Given the description of an element on the screen output the (x, y) to click on. 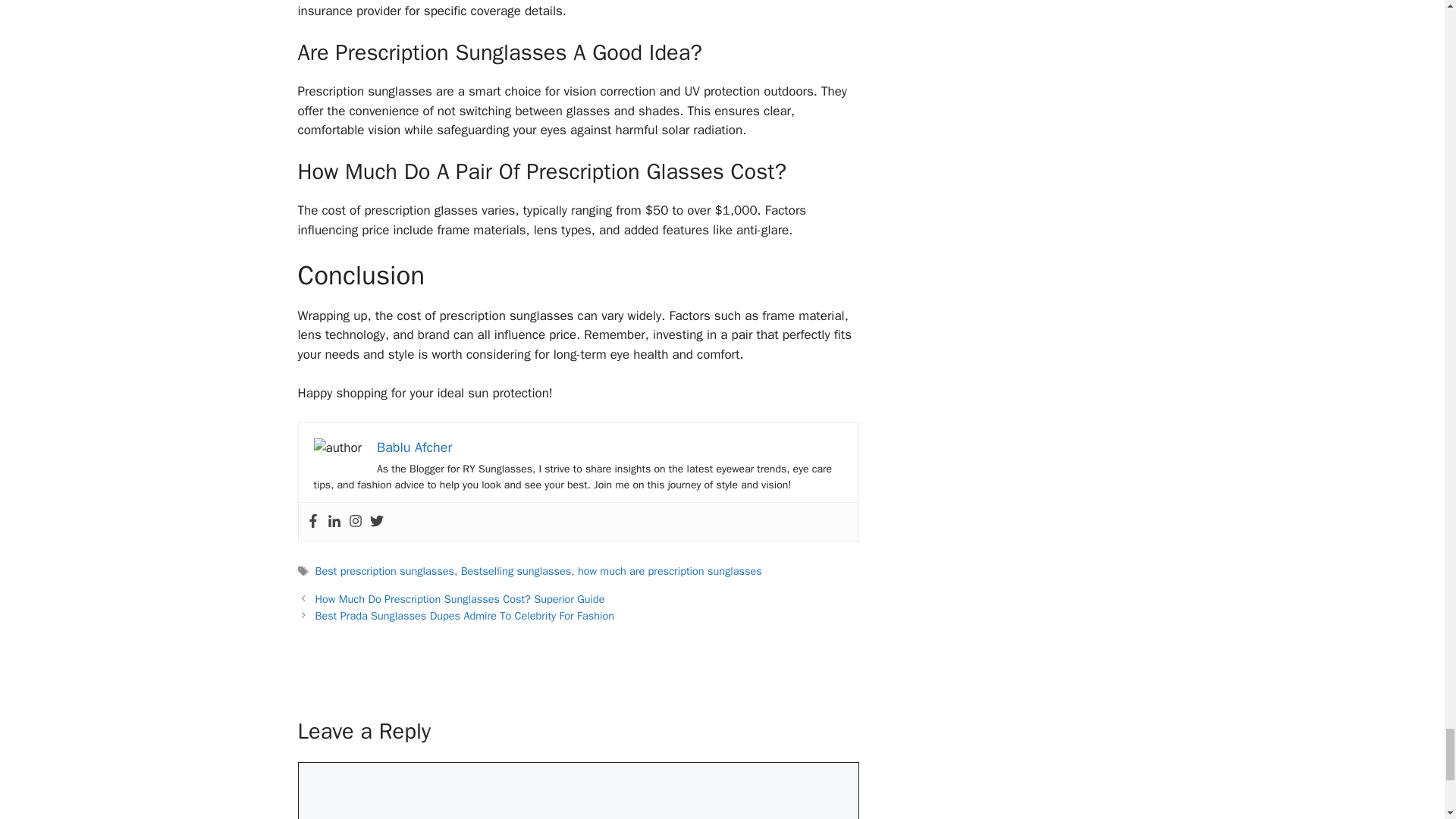
how much are prescription sunglasses (669, 571)
How Much Do Prescription Sunglasses Cost? Superior Guide (460, 599)
Best Prada Sunglasses Dupes Admire To Celebrity For Fashion (464, 615)
Best prescription sunglasses (384, 571)
Bablu Afcher (414, 446)
Bestselling sunglasses (516, 571)
